Given the description of an element on the screen output the (x, y) to click on. 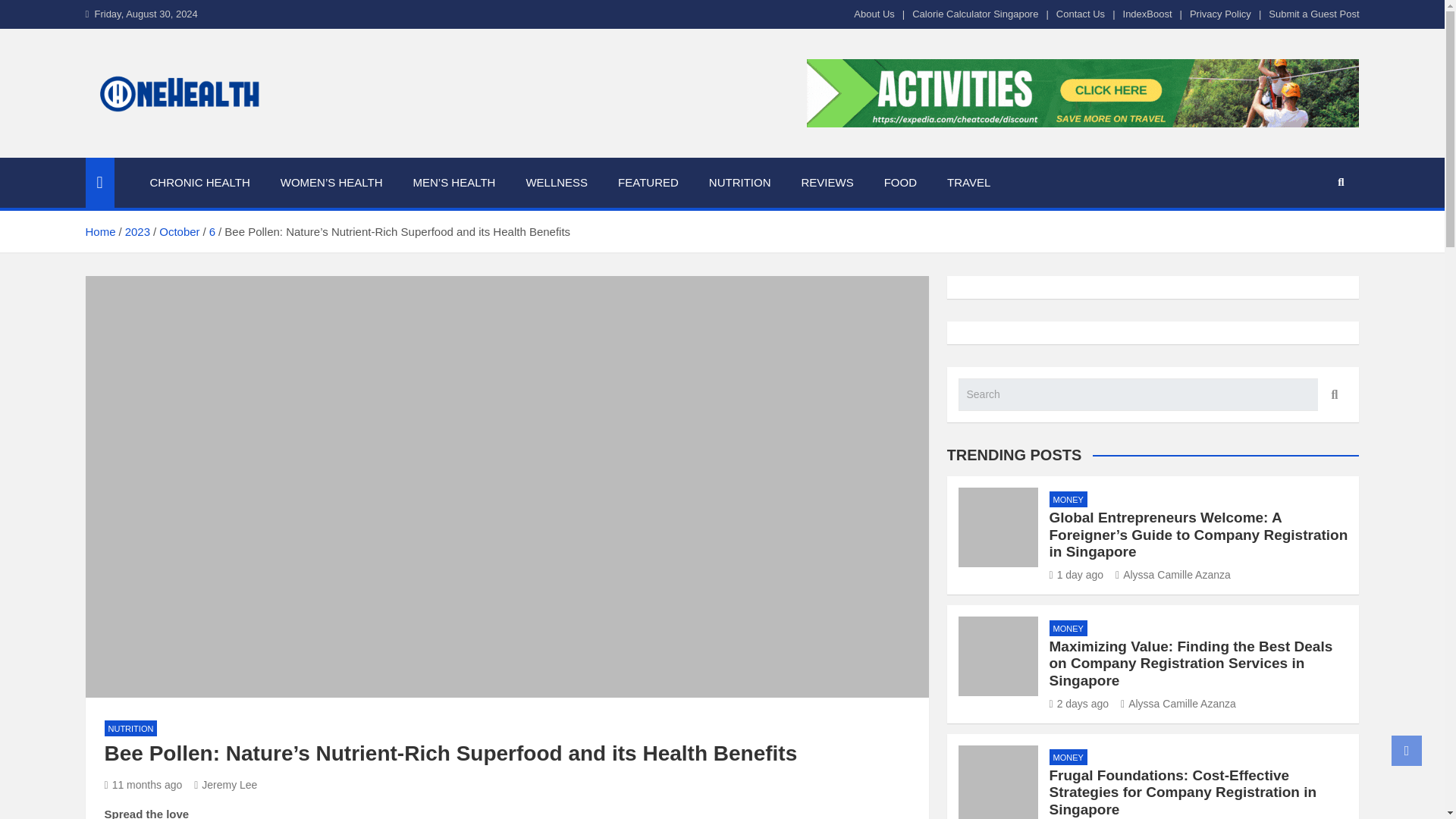
NUTRITION (130, 728)
WELLNESS (556, 183)
TRAVEL (968, 183)
About Us (873, 13)
11 months ago (143, 784)
Contact Us (1081, 13)
CHRONIC HEALTH (199, 183)
Calorie Calculator Singapore (975, 13)
2023 (137, 231)
